Given the description of an element on the screen output the (x, y) to click on. 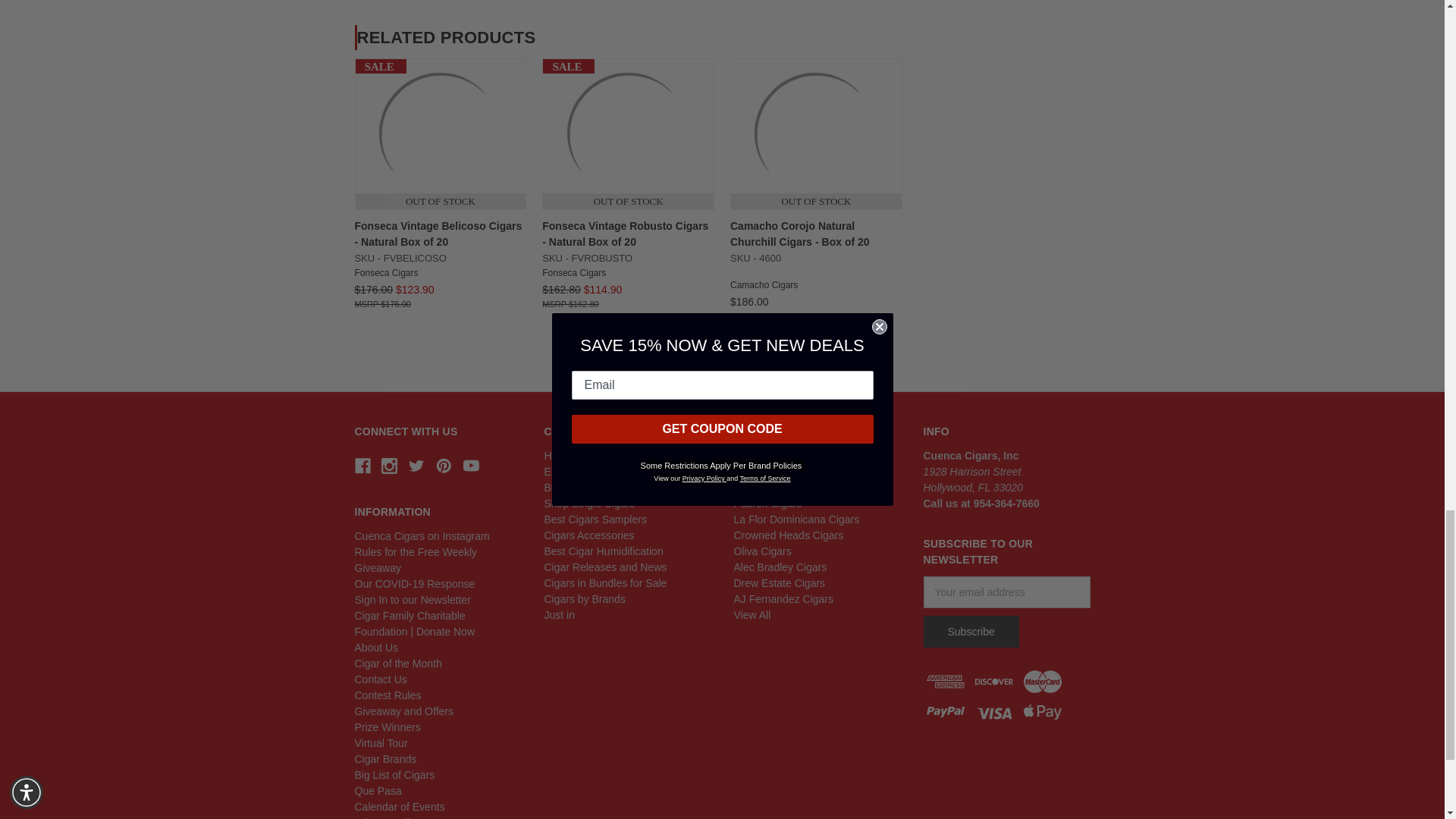
Subscribe (971, 631)
Fonseca Vintage Belicoso Cigars - Natural Box of 20 (440, 133)
Fonseca Vintage Robusto Cigars - Natural Box of 20 (628, 133)
Camacho Corojo Natural Churchill Cigars - Box of 20 (816, 133)
